Given the description of an element on the screen output the (x, y) to click on. 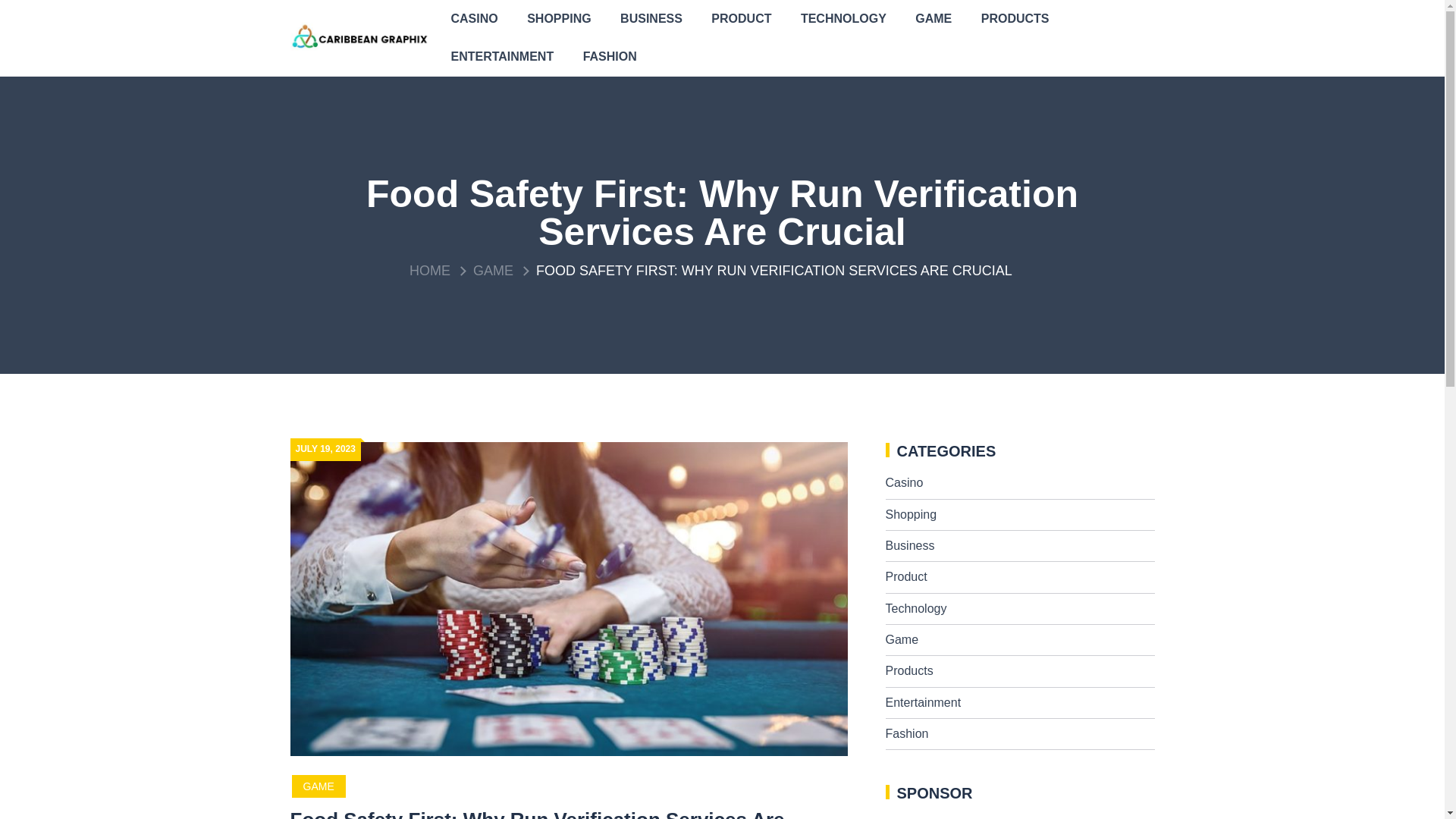
Entertainment (922, 702)
PRODUCT (741, 18)
Technology (916, 608)
GAME (493, 270)
Shopping (911, 513)
ENTERTAINMENT (502, 56)
JULY 19, 2023 (325, 448)
Fashion (906, 733)
GAME (932, 18)
Product (906, 576)
